Given the description of an element on the screen output the (x, y) to click on. 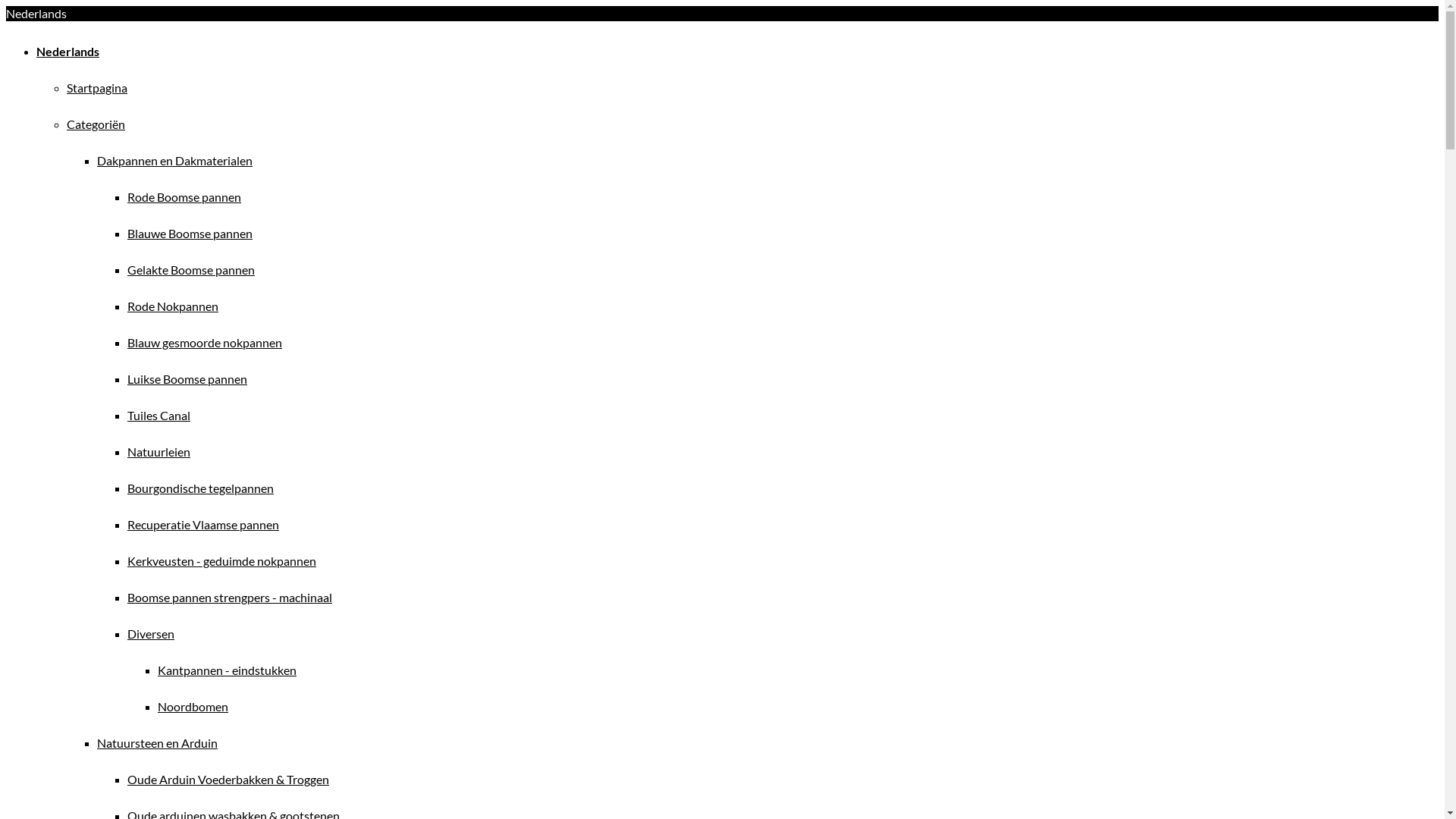
Rode Nokpannen Element type: text (172, 305)
Natuurleien Element type: text (158, 451)
Recuperatie Vlaamse pannen Element type: text (203, 524)
Diversen Element type: text (150, 633)
Nederlands Element type: text (67, 50)
Rode Boomse pannen Element type: text (184, 196)
Boomse pannen strengpers - machinaal Element type: text (229, 596)
Dakpannen en Dakmaterialen Element type: text (174, 160)
Kerkveusten - geduimde nokpannen Element type: text (221, 560)
Startpagina Element type: text (96, 87)
Noordbomen Element type: text (192, 706)
Luikse Boomse pannen Element type: text (187, 378)
Natuursteen en Arduin Element type: text (157, 742)
Tuiles Canal Element type: text (158, 414)
Blauwe Boomse pannen Element type: text (189, 232)
Bourgondische tegelpannen Element type: text (200, 487)
Kantpannen - eindstukken Element type: text (226, 669)
Gelakte Boomse pannen Element type: text (190, 269)
Blauw gesmoorde nokpannen Element type: text (204, 342)
Oude Arduin Voederbakken & Troggen Element type: text (228, 778)
